Given the description of an element on the screen output the (x, y) to click on. 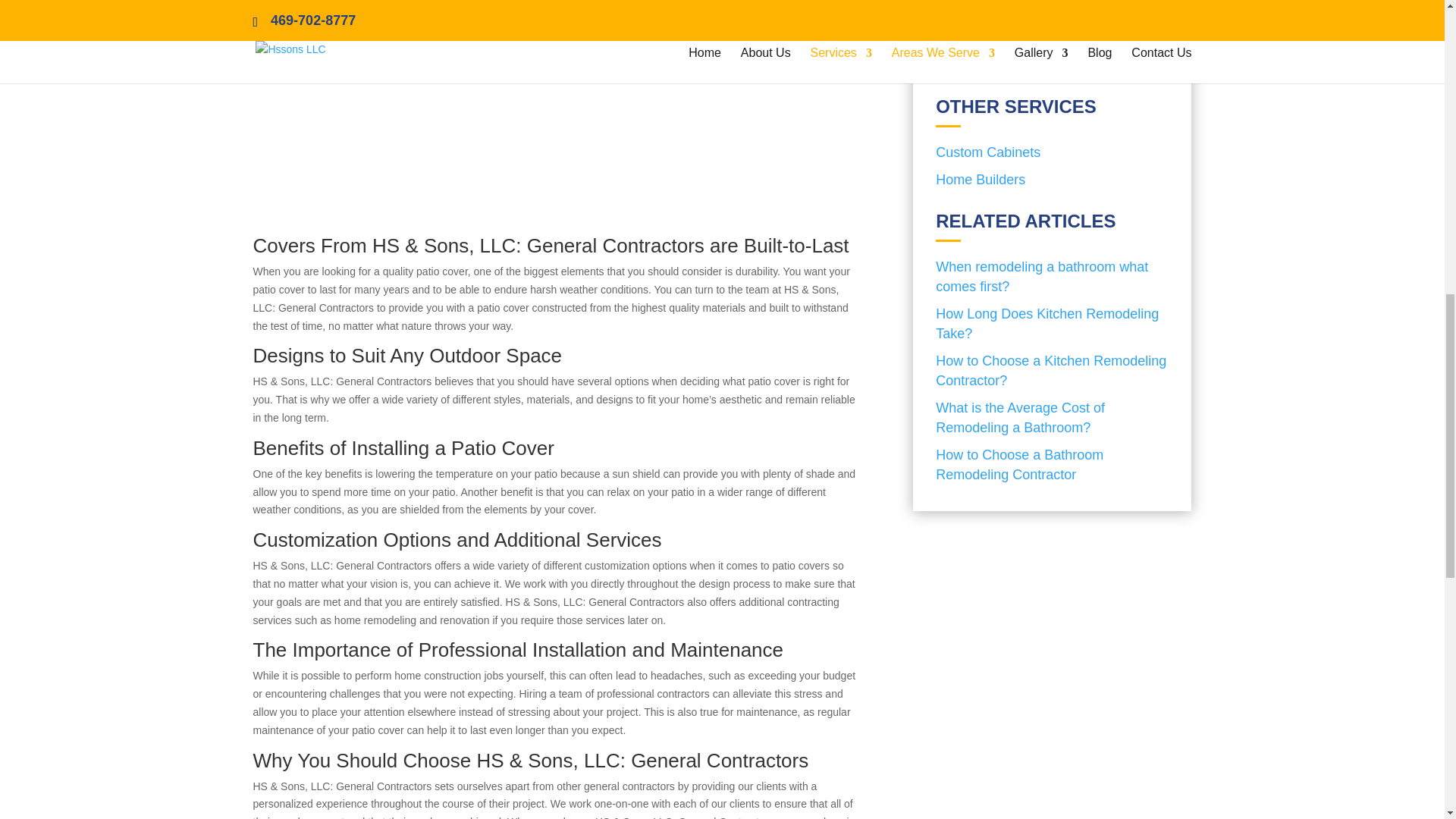
How to Choose a Kitchen Remodeling Contractor? (1052, 370)
Large Terrace Patio (557, 104)
Home Builders (980, 179)
What is the Average Cost of Remodeling a Bathroom? (1052, 417)
Submit (1049, 56)
Custom Cabinets (988, 152)
How to Choose a Bathroom Remodeling Contractor (1052, 464)
How Long Does Kitchen Remodeling Take? (1052, 323)
When remodeling a bathroom what comes first? (1052, 276)
